Given the description of an element on the screen output the (x, y) to click on. 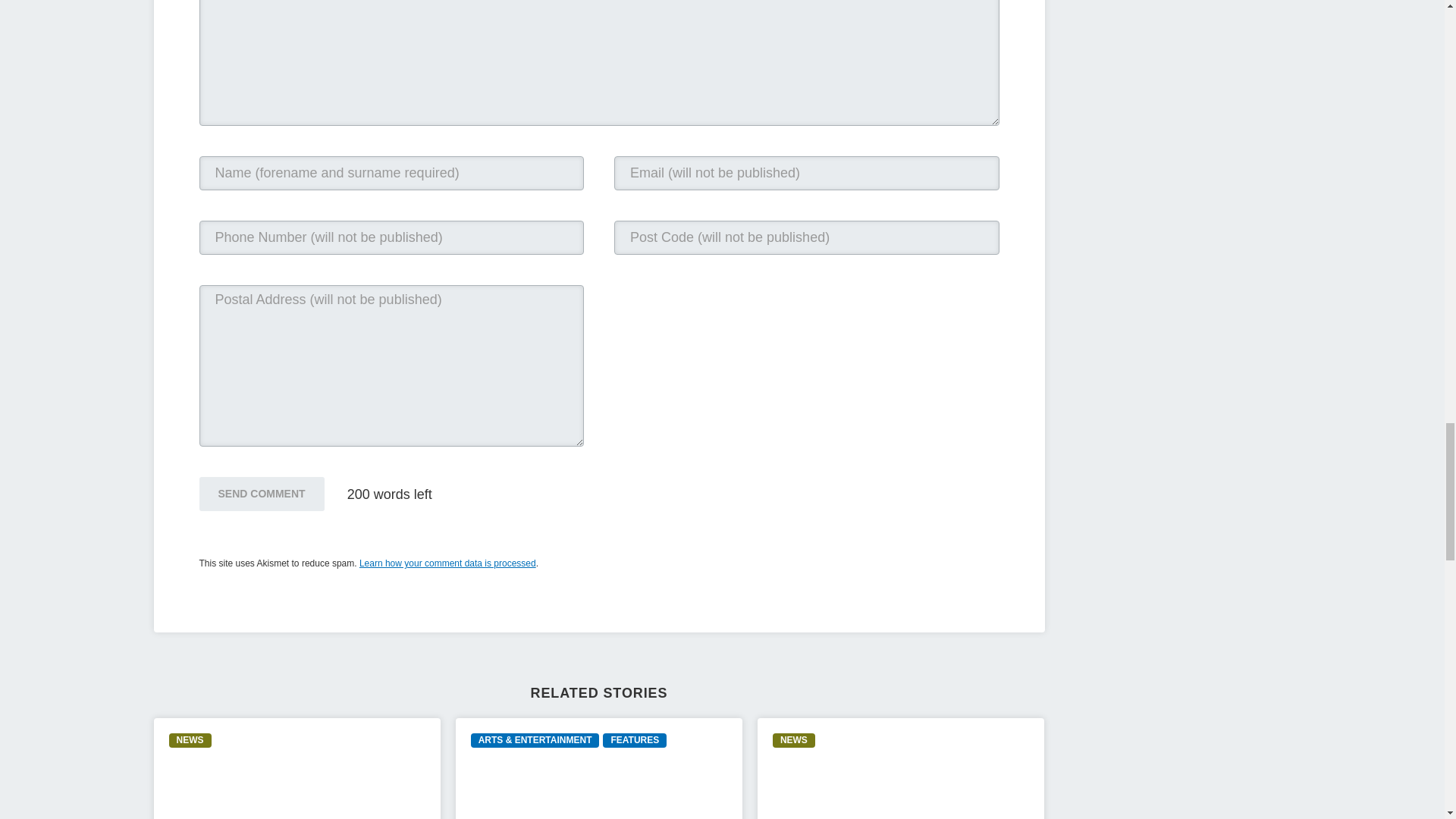
NEWS (189, 740)
SEND COMMENT (260, 493)
Learn how your comment data is processed (447, 562)
